Given the description of an element on the screen output the (x, y) to click on. 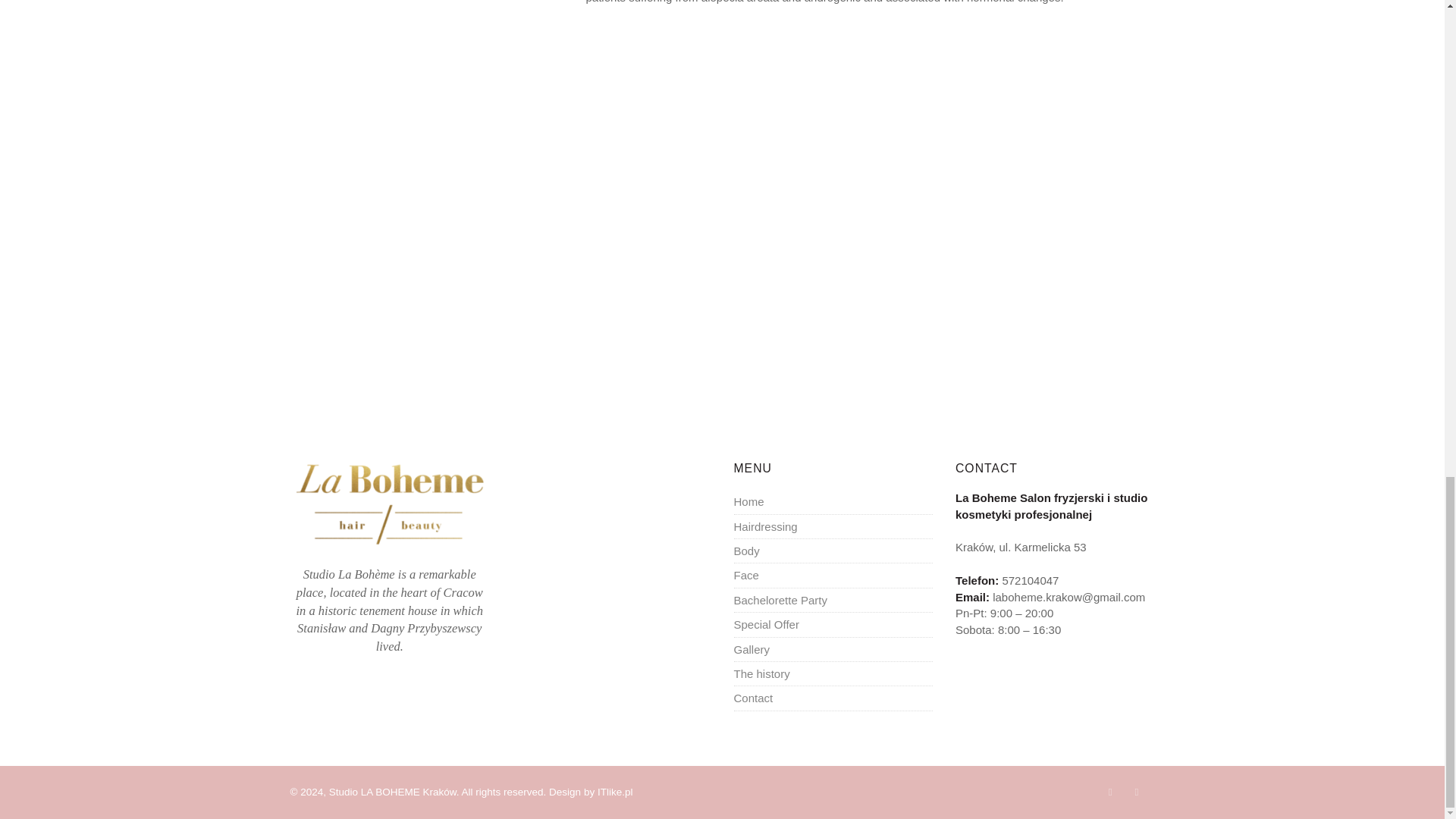
Bachelorette Party (780, 599)
Home (748, 501)
The history (761, 673)
Special Offer (766, 624)
Face (745, 574)
Hairdressing (765, 525)
Gallery (751, 649)
Body (746, 550)
Contact (753, 697)
